Given the description of an element on the screen output the (x, y) to click on. 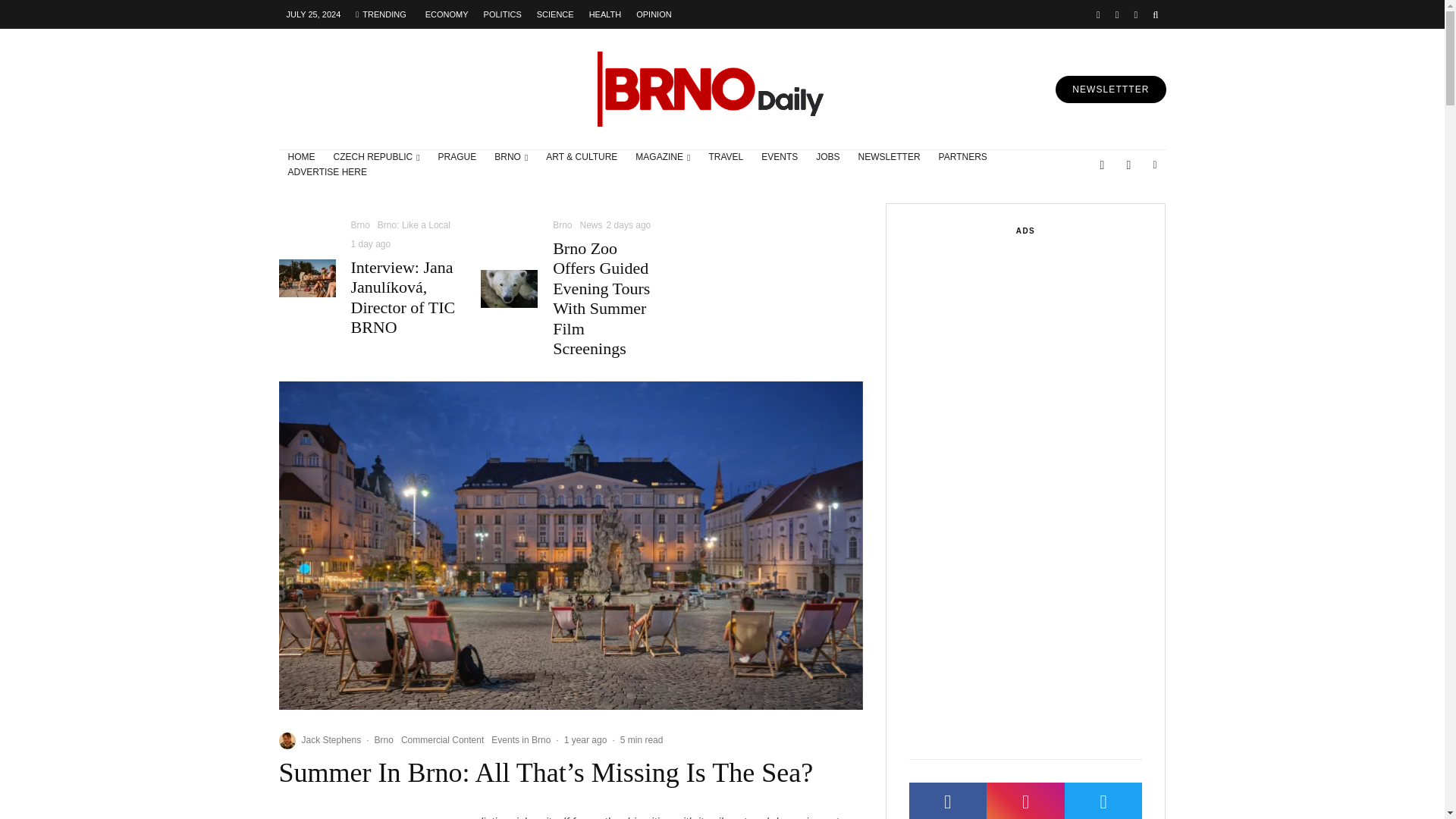
HOME (301, 157)
HEALTH (604, 14)
POLITICS (502, 14)
NEWSLETTTER (1110, 89)
CZECH REPUBLIC (376, 157)
ECONOMY (446, 14)
OPINION (653, 14)
SCIENCE (554, 14)
TRENDING (380, 14)
PRAGUE (457, 157)
